Given the description of an element on the screen output the (x, y) to click on. 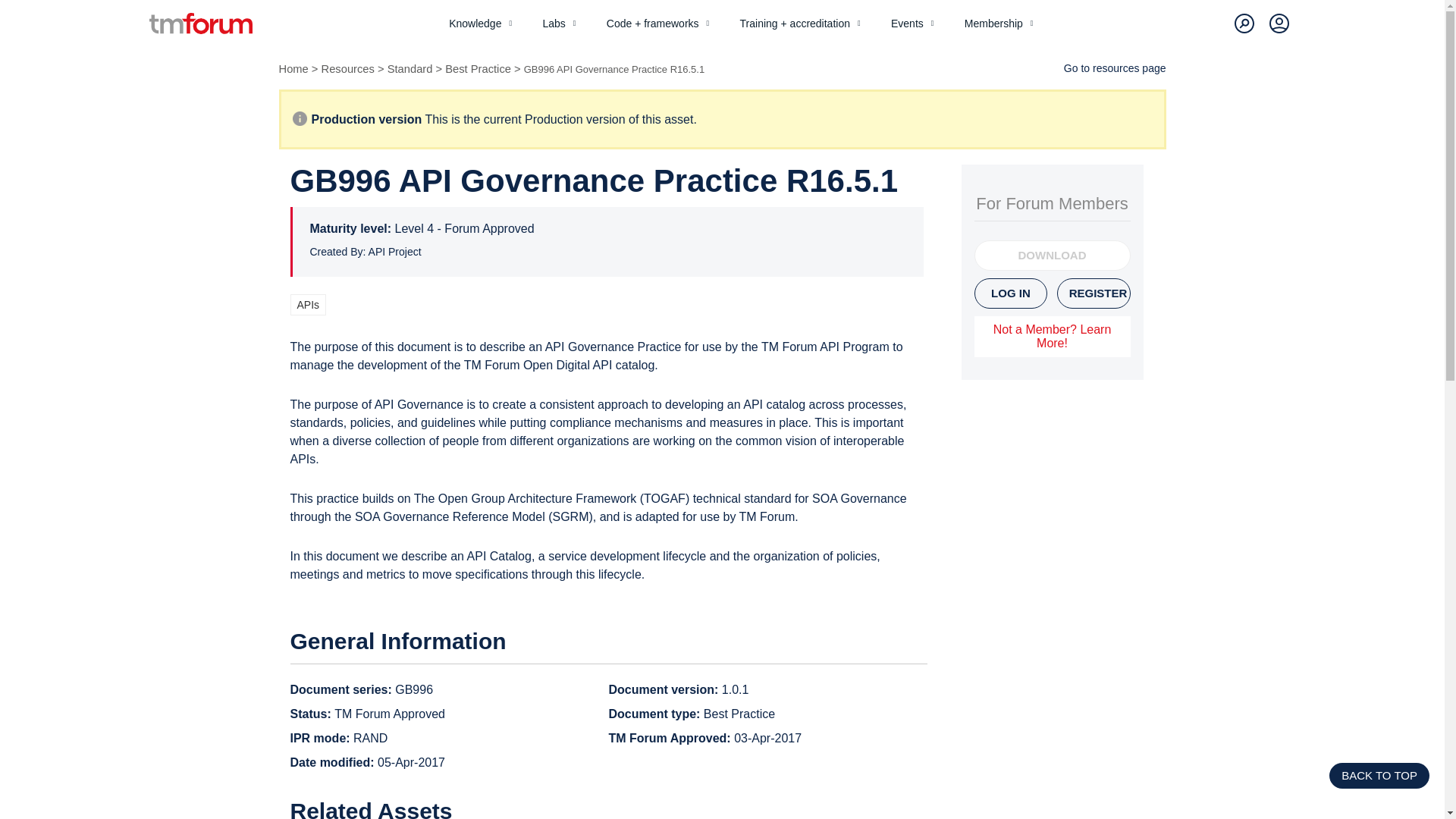
Go to TM Forum Home (199, 23)
Log In (1011, 293)
Knowledge (482, 23)
Register (1094, 293)
